Given the description of an element on the screen output the (x, y) to click on. 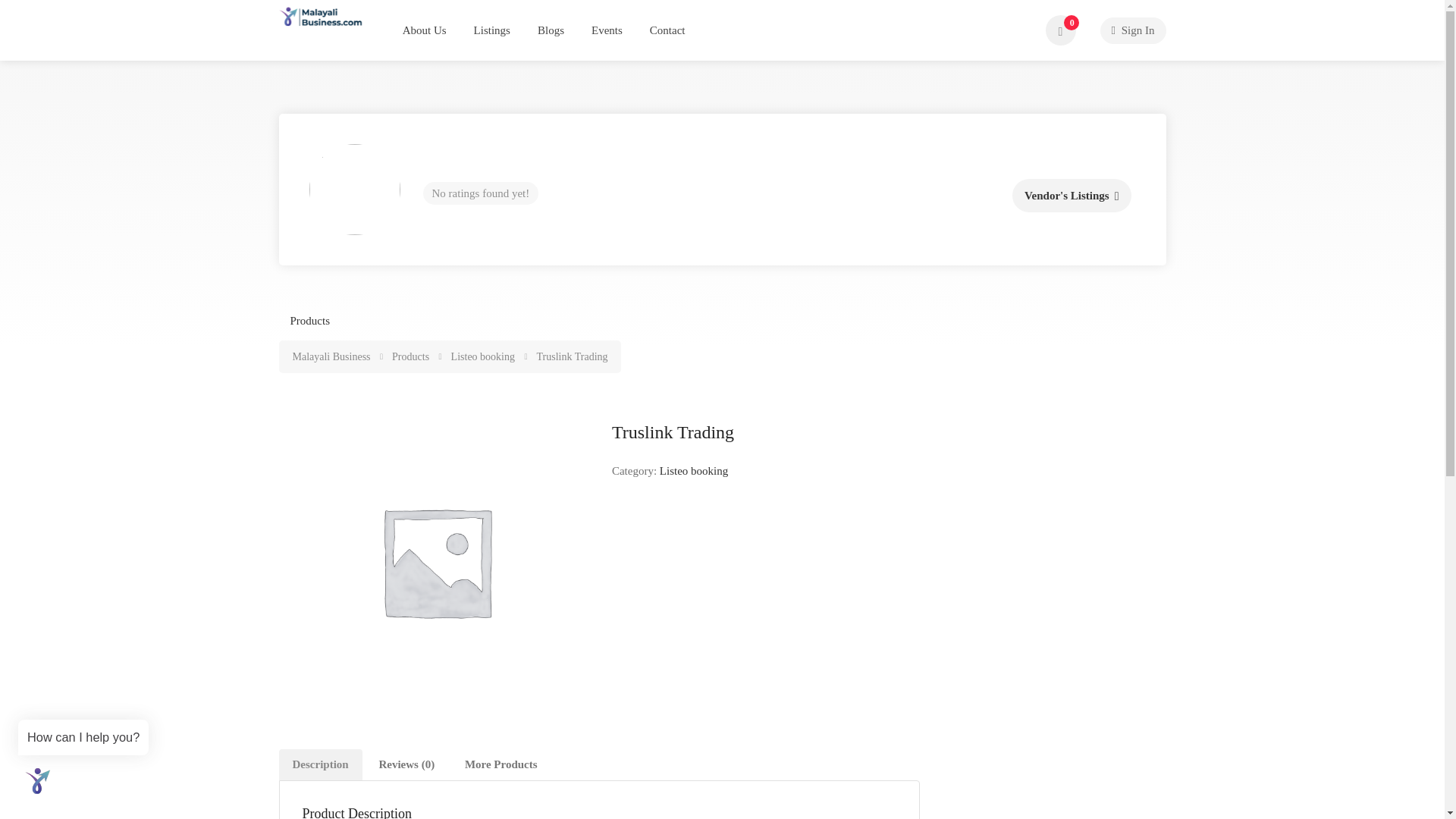
Malayali Business (320, 15)
Blogs (550, 30)
More Products (501, 764)
Malayali Business (332, 356)
Listings (492, 30)
Listeo booking (483, 356)
Listeo booking (693, 470)
Go to the Listeo booking Category archives. (483, 356)
Vendor's Listings (1071, 195)
Go to Products. (410, 356)
Sign In (1132, 30)
Events (606, 30)
Contact (668, 30)
Products (309, 320)
Description (320, 764)
